Given the description of an element on the screen output the (x, y) to click on. 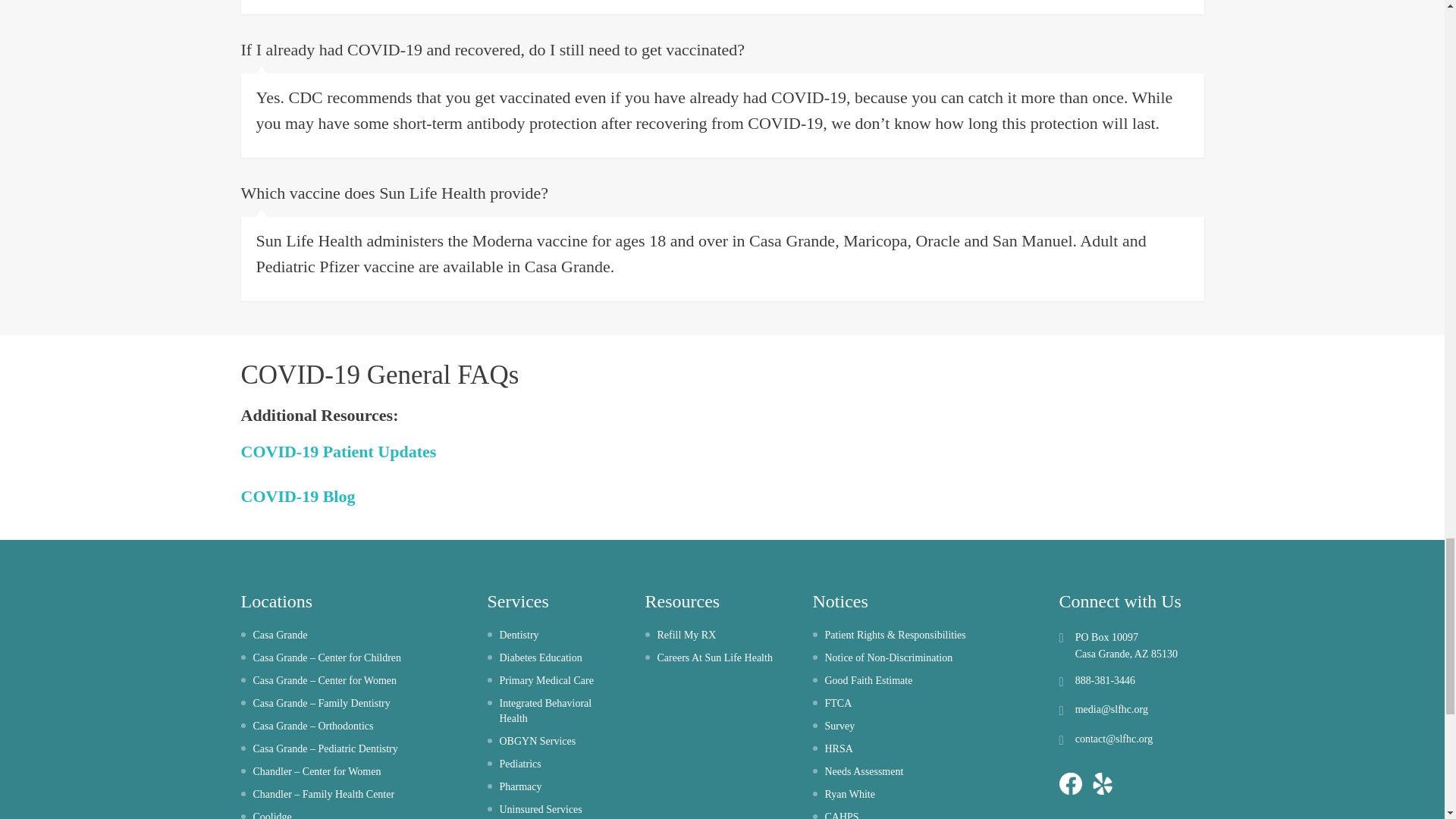
COVID-19 Patient Updates (338, 451)
COVID-19 Blog (298, 496)
